Given the description of an element on the screen output the (x, y) to click on. 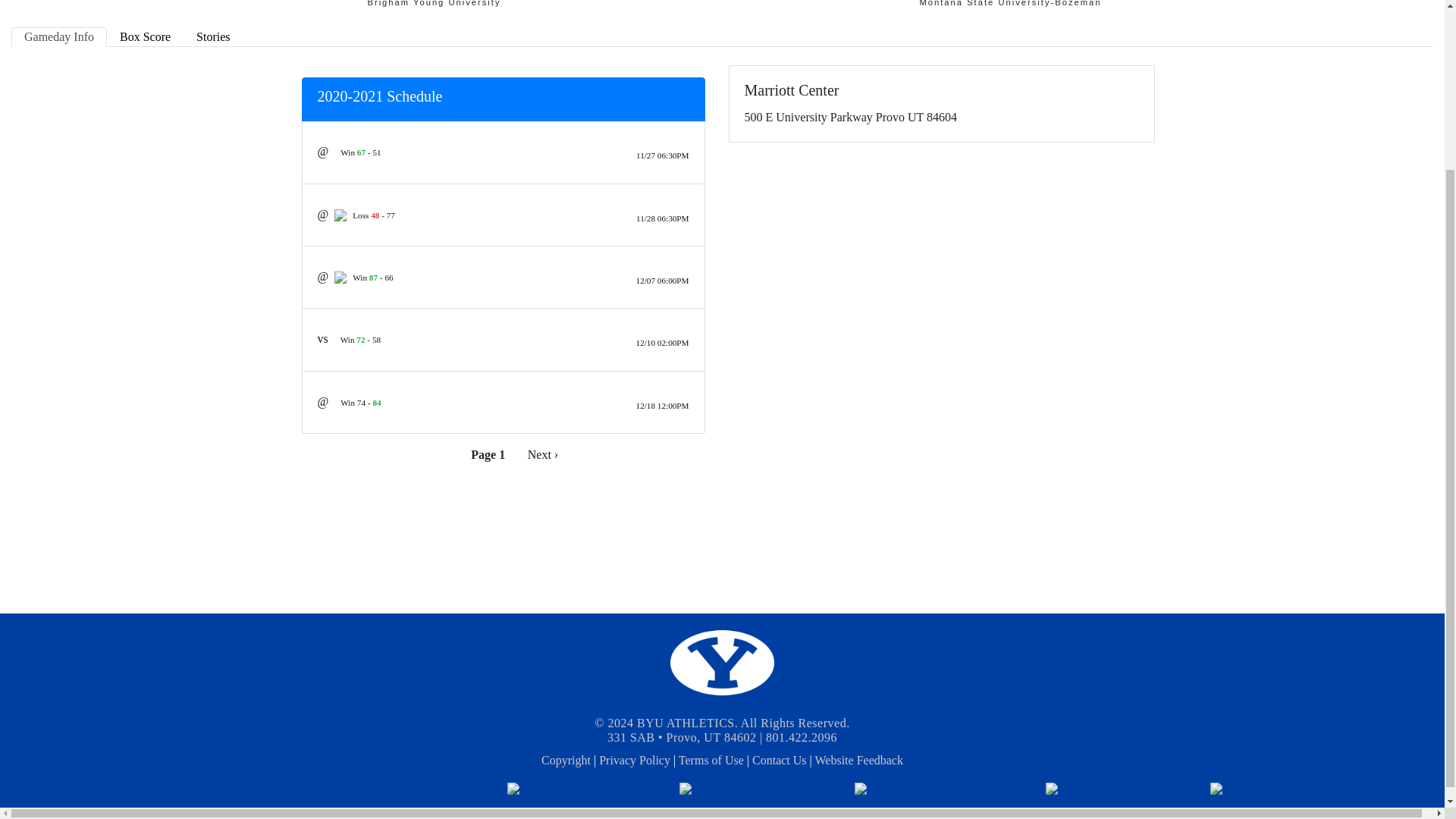
Go to next page (542, 454)
